Given the description of an element on the screen output the (x, y) to click on. 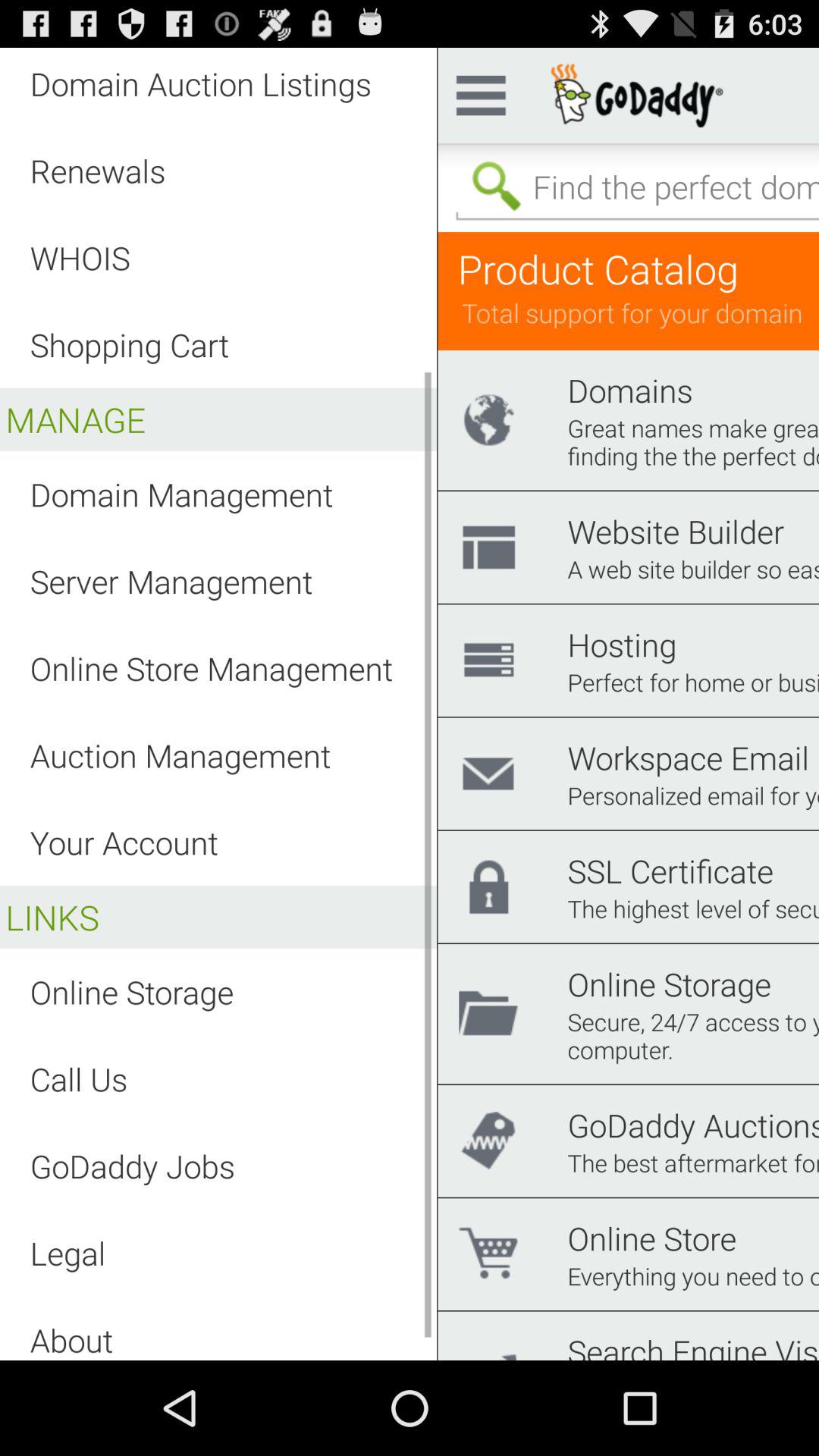
scroll to the website builder app (675, 530)
